Given the description of an element on the screen output the (x, y) to click on. 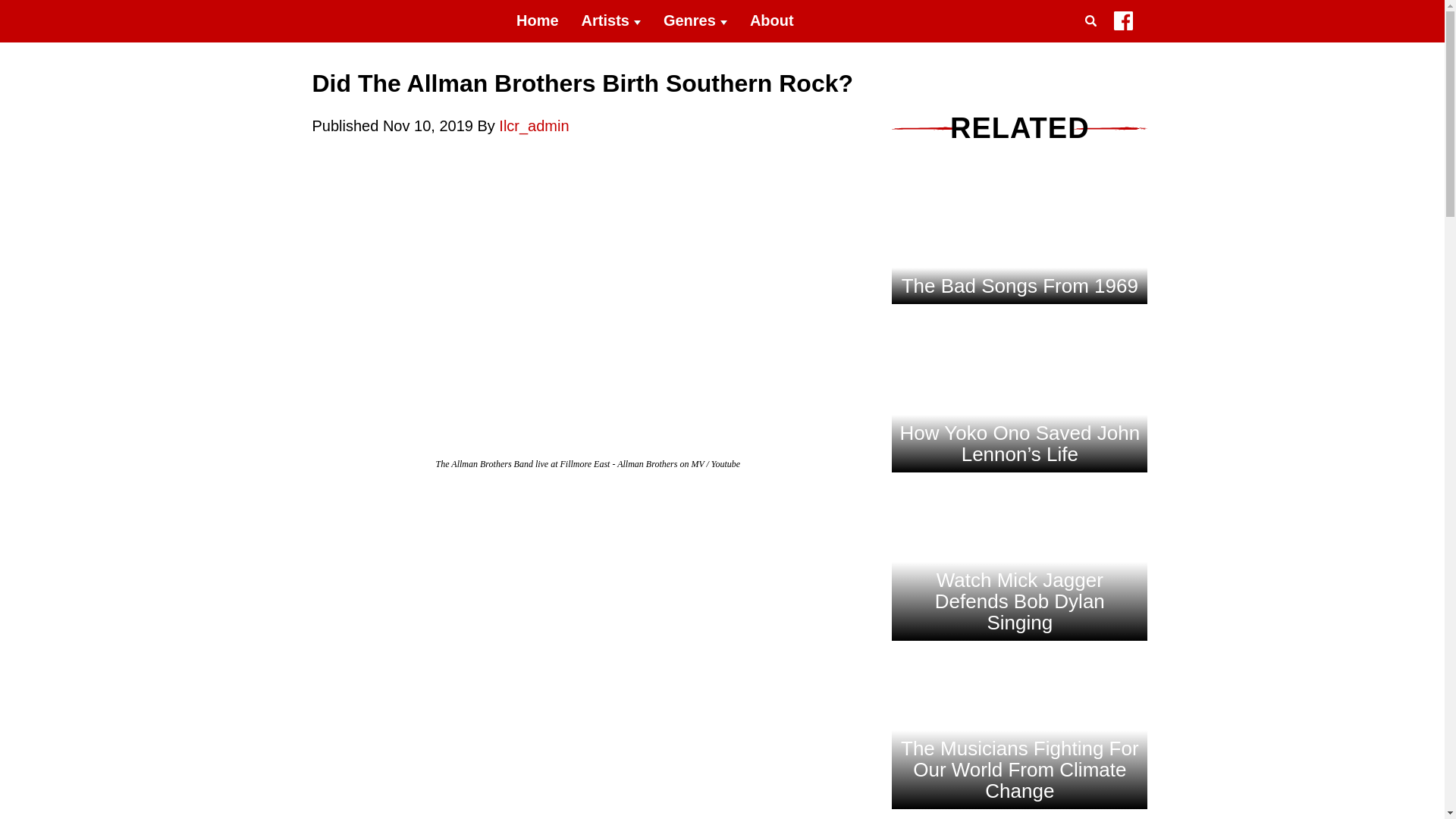
Watch Mick Jagger Defends Bob Dylan Singing (1019, 648)
The Bad Songs From 1969 (1019, 285)
Artists (611, 21)
Watch Mick Jagger Defends Bob Dylan Singing (1019, 575)
The Bad Songs From 1969 (1019, 340)
Genres (695, 21)
Search (1093, 39)
Search (1093, 39)
About (771, 21)
I Love Classic Rock on Facebook (1122, 24)
